Given the description of an element on the screen output the (x, y) to click on. 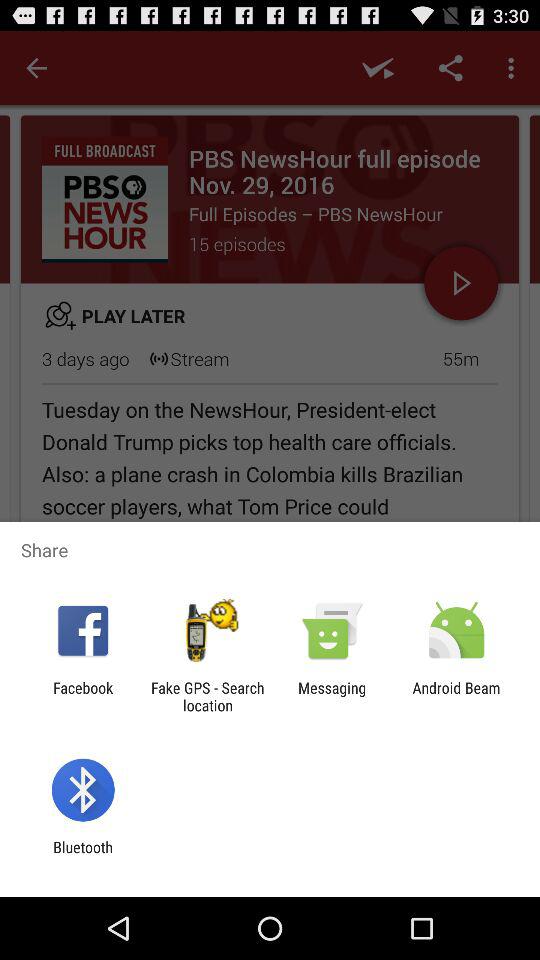
click bluetooth icon (82, 856)
